Given the description of an element on the screen output the (x, y) to click on. 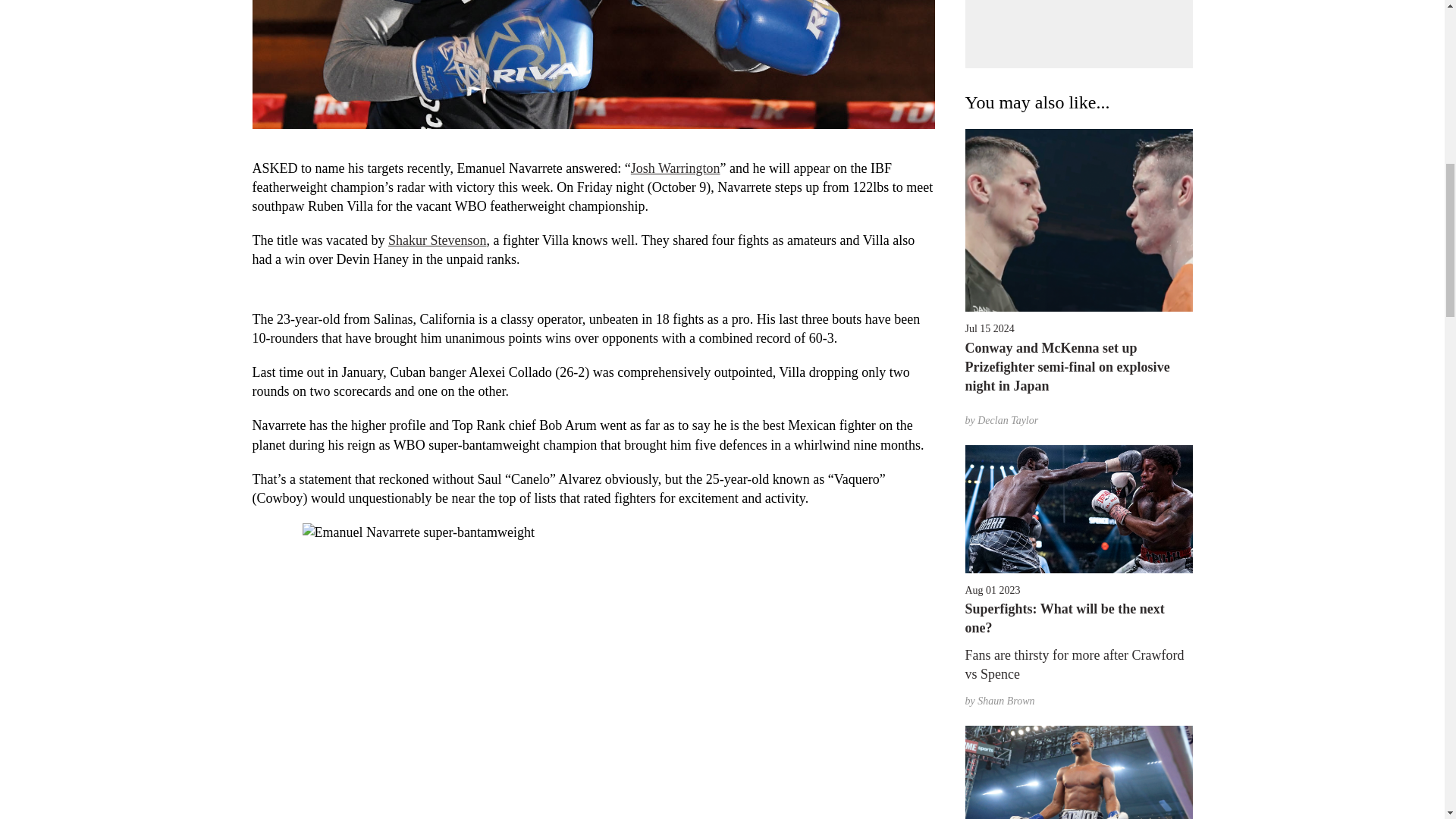
Josh Warrington (675, 168)
